Given the description of an element on the screen output the (x, y) to click on. 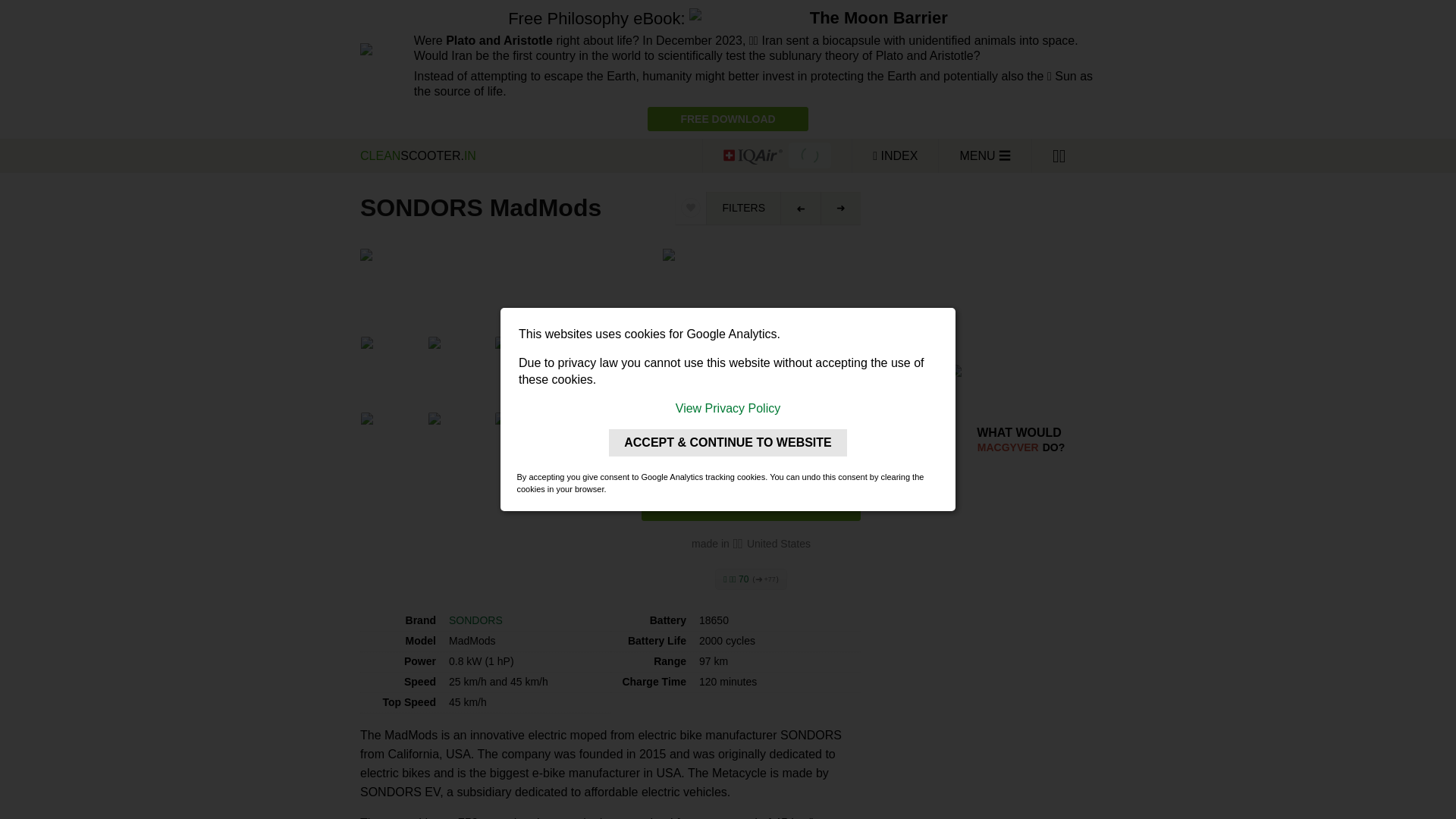
Purchase Info (751, 504)
FILTERS (743, 207)
View Privacy Policy (727, 408)
CLEANSCOOTER.IN (528, 155)
SONDORS (475, 620)
